Given the description of an element on the screen output the (x, y) to click on. 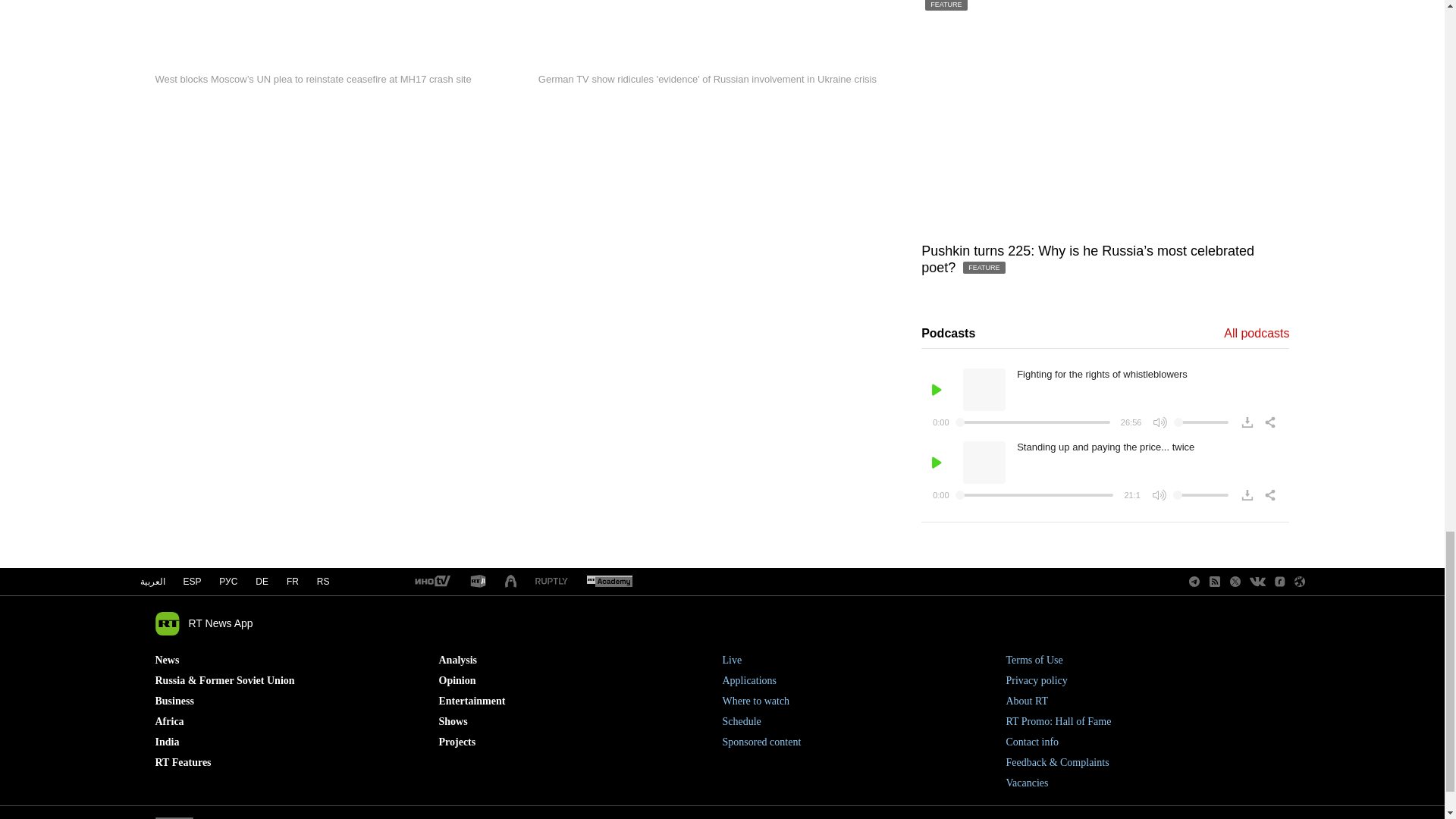
RT  (478, 581)
RT  (608, 581)
RT  (431, 581)
RT  (551, 582)
